Given the description of an element on the screen output the (x, y) to click on. 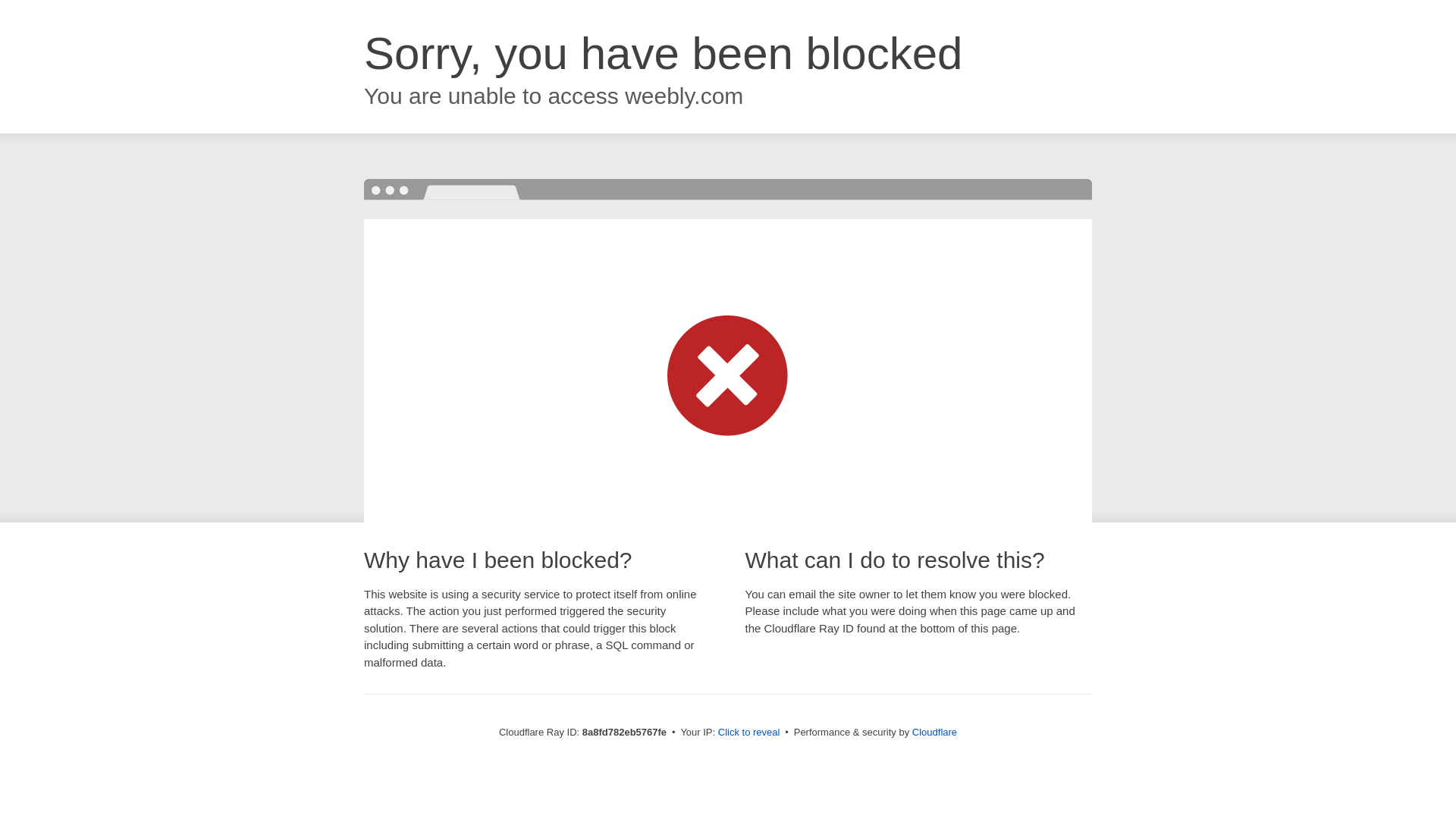
Cloudflare (934, 731)
Click to reveal (748, 732)
